Given the description of an element on the screen output the (x, y) to click on. 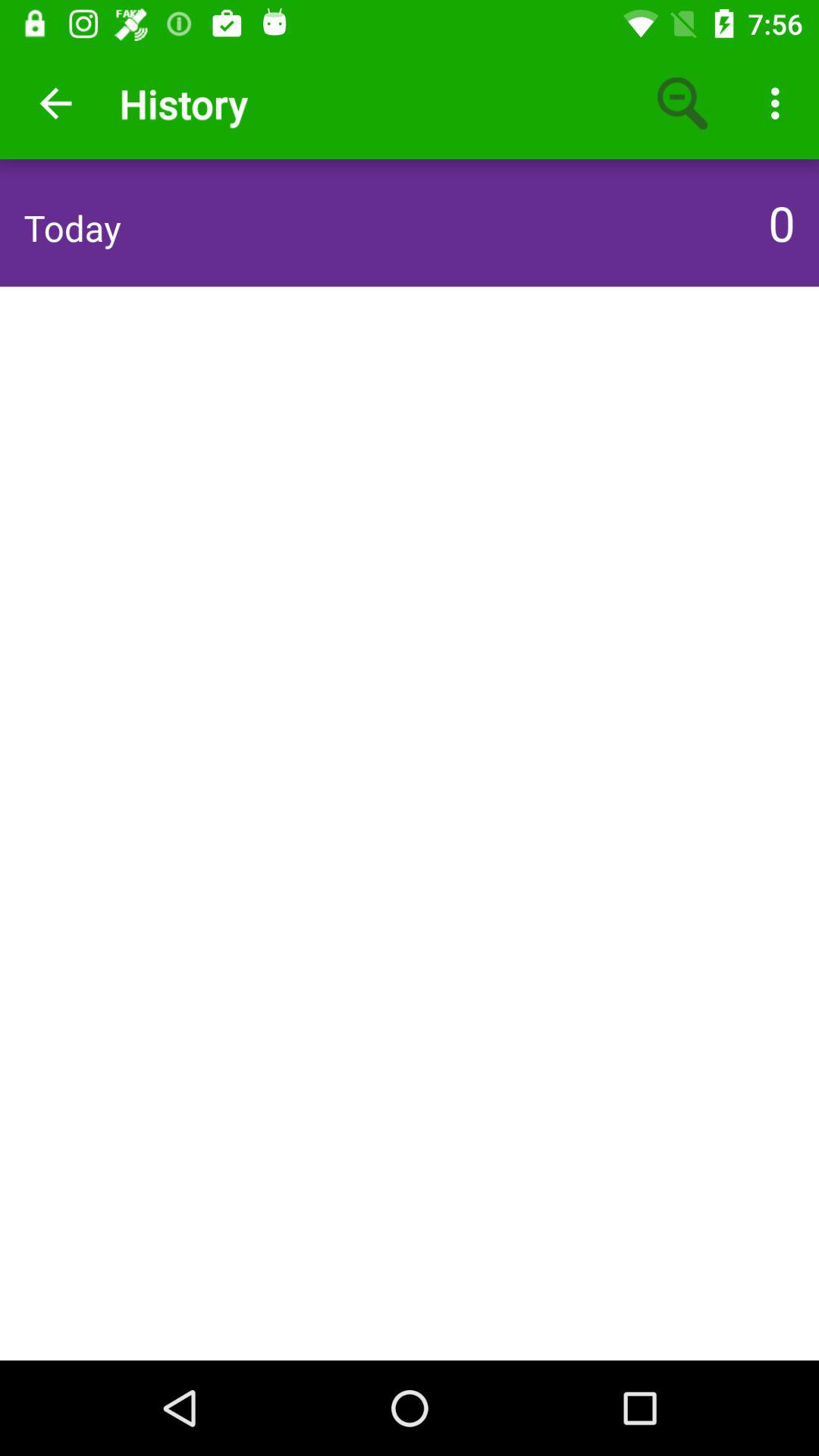
flip until the today (72, 227)
